Given the description of an element on the screen output the (x, y) to click on. 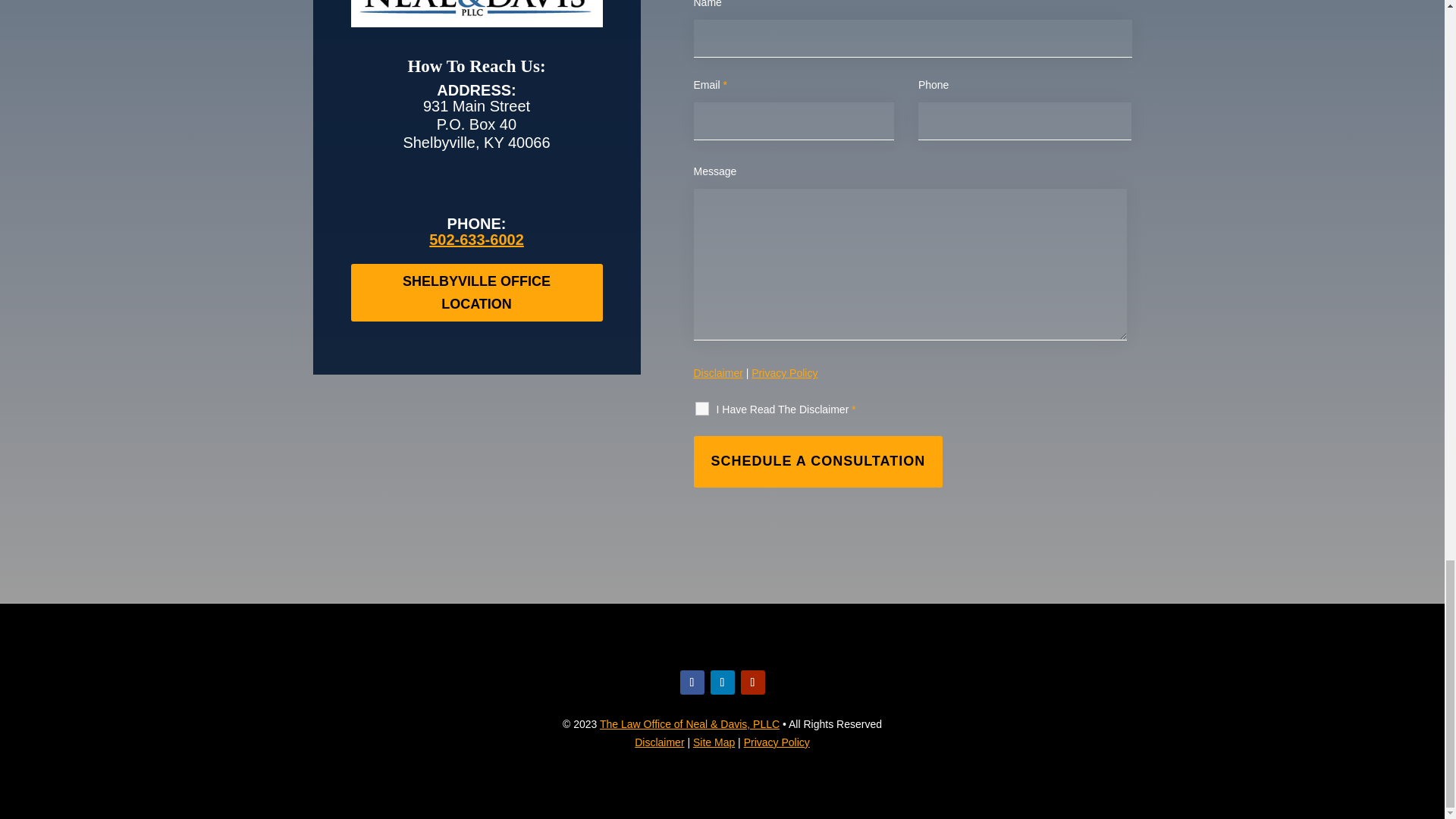
logo-new (476, 9)
Schedule A Consultation (817, 461)
Follow on Youtube (751, 682)
Follow on LinkedIn (721, 682)
Follow on Facebook (691, 682)
